Given the description of an element on the screen output the (x, y) to click on. 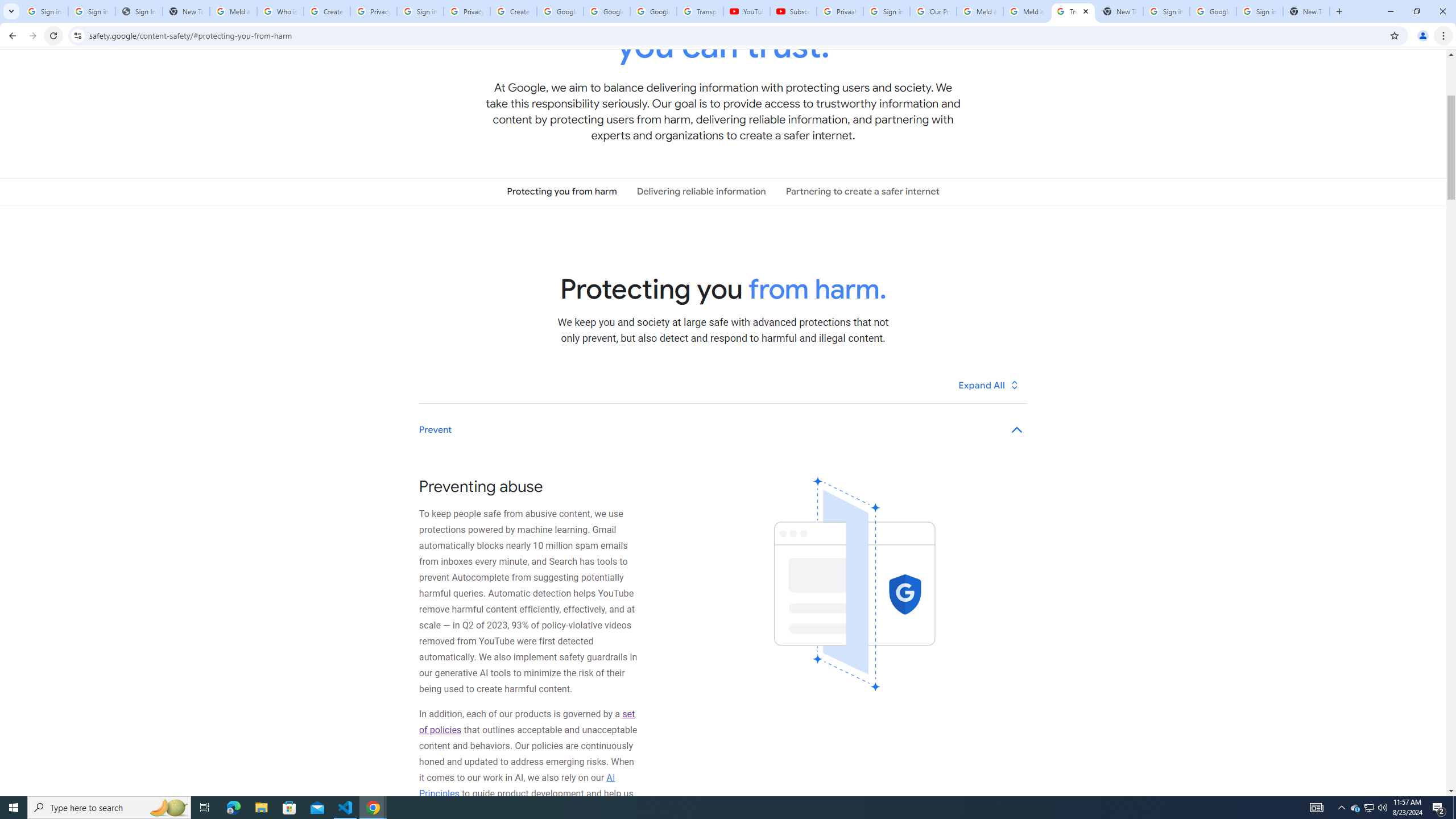
Sign in - Google Accounts (44, 11)
Sign in - Google Accounts (1259, 11)
Trusted Information and Content - Google Safety Center (1073, 11)
Google Cybersecurity Innovations - Google Safety Center (1213, 11)
YouTube (745, 11)
Who is my administrator? - Google Account Help (279, 11)
